Given the description of an element on the screen output the (x, y) to click on. 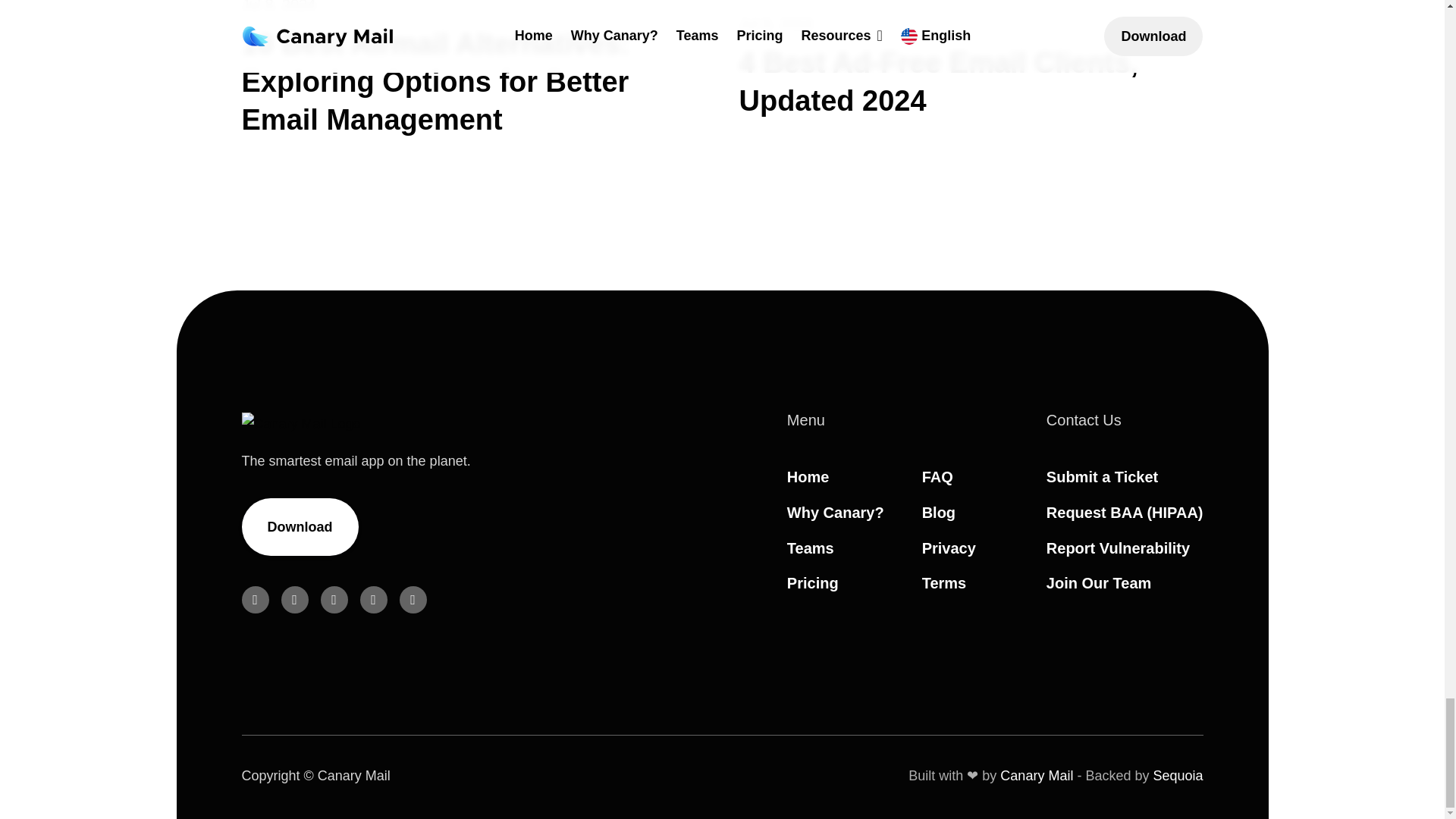
FAQ (937, 476)
Download (299, 526)
Pricing (812, 582)
Teams (810, 547)
Submit a Ticket (1101, 476)
Report Vulnerability (1117, 547)
Blog (938, 512)
Why Canary? (835, 512)
Terms (943, 582)
Privacy (948, 547)
Home (808, 476)
Join Our Team (1098, 582)
